Given the description of an element on the screen output the (x, y) to click on. 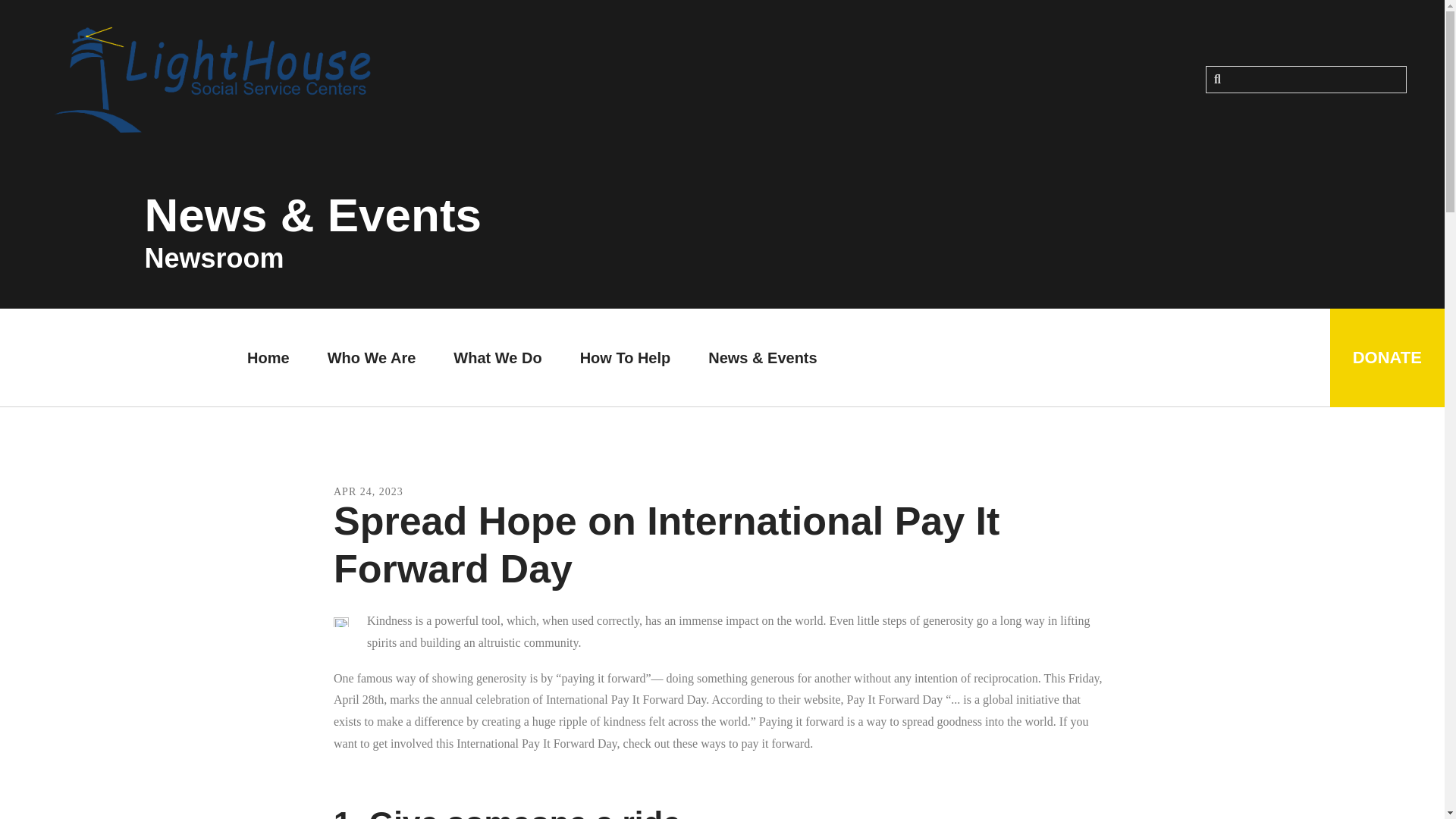
logo (212, 79)
What We Do (496, 357)
How To Help (625, 357)
Who We Are (371, 357)
Home (268, 357)
